Given the description of an element on the screen output the (x, y) to click on. 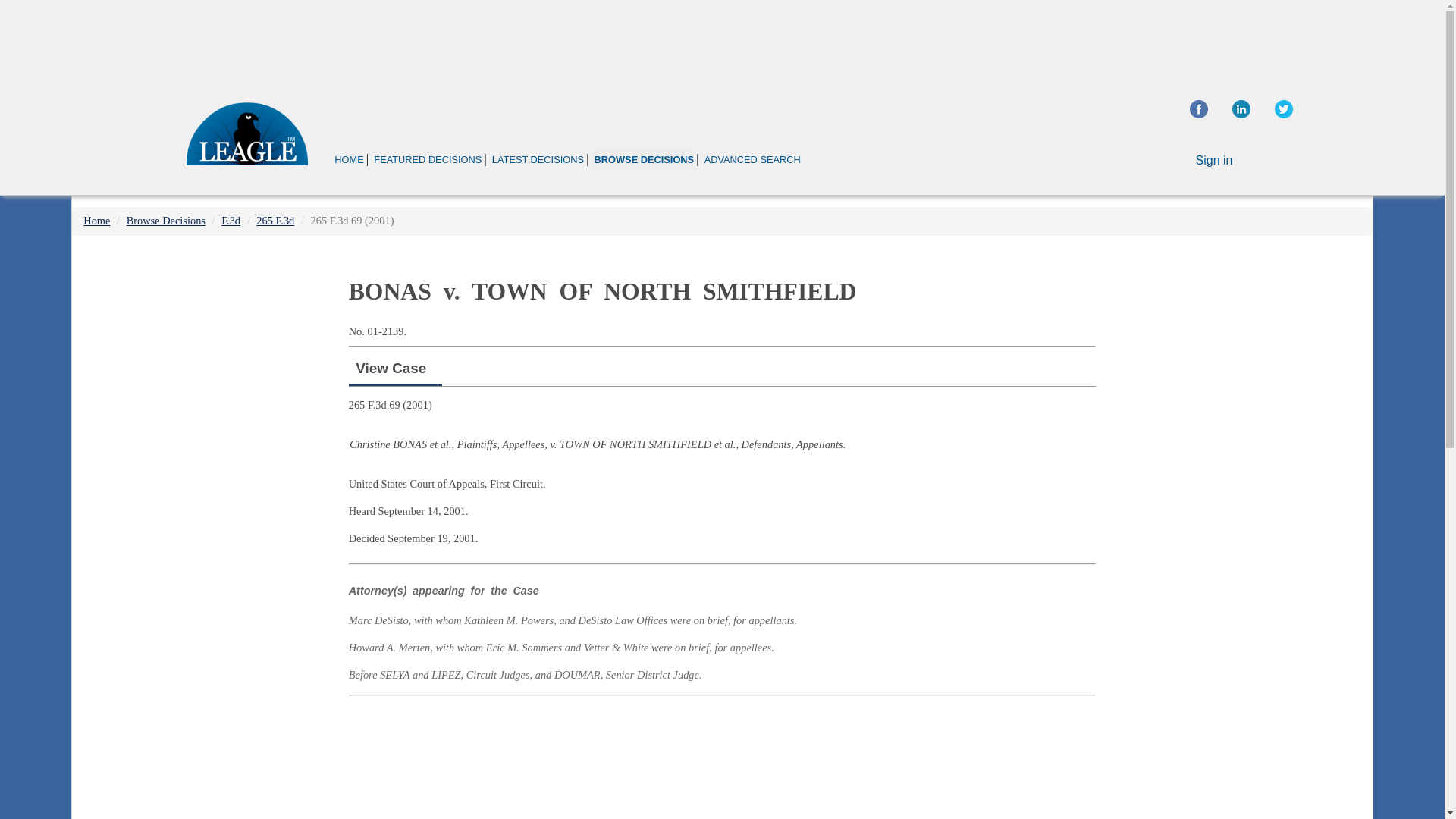
Advertisement (722, 760)
HOME (348, 159)
LATEST DECISIONS (537, 159)
Sign in (1214, 160)
FEATURED DECISIONS (427, 159)
Browse Decisions (165, 220)
Advertisement (1242, 356)
F.3d (230, 220)
ADVANCED SEARCH (752, 159)
Home (96, 220)
